Given the description of an element on the screen output the (x, y) to click on. 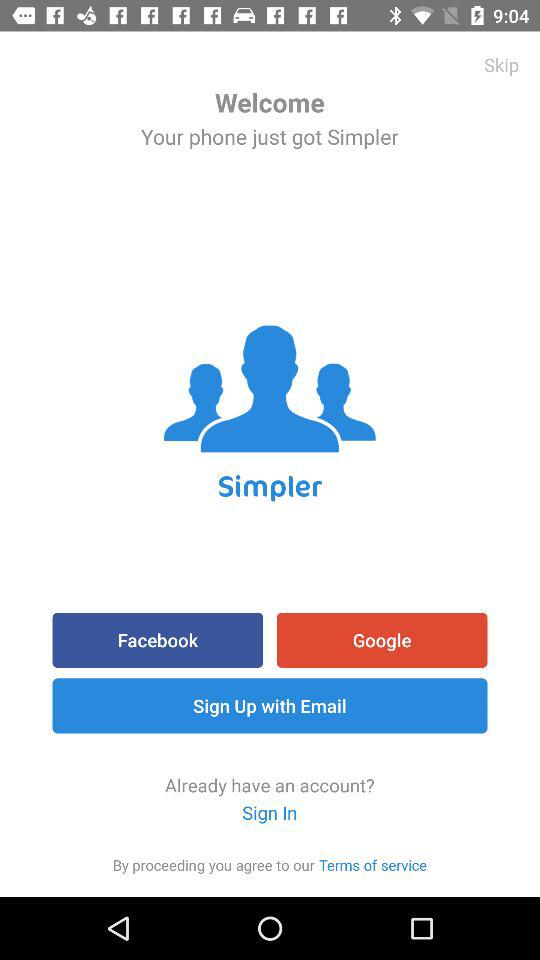
press the icon to the right of the (373, 864)
